Given the description of an element on the screen output the (x, y) to click on. 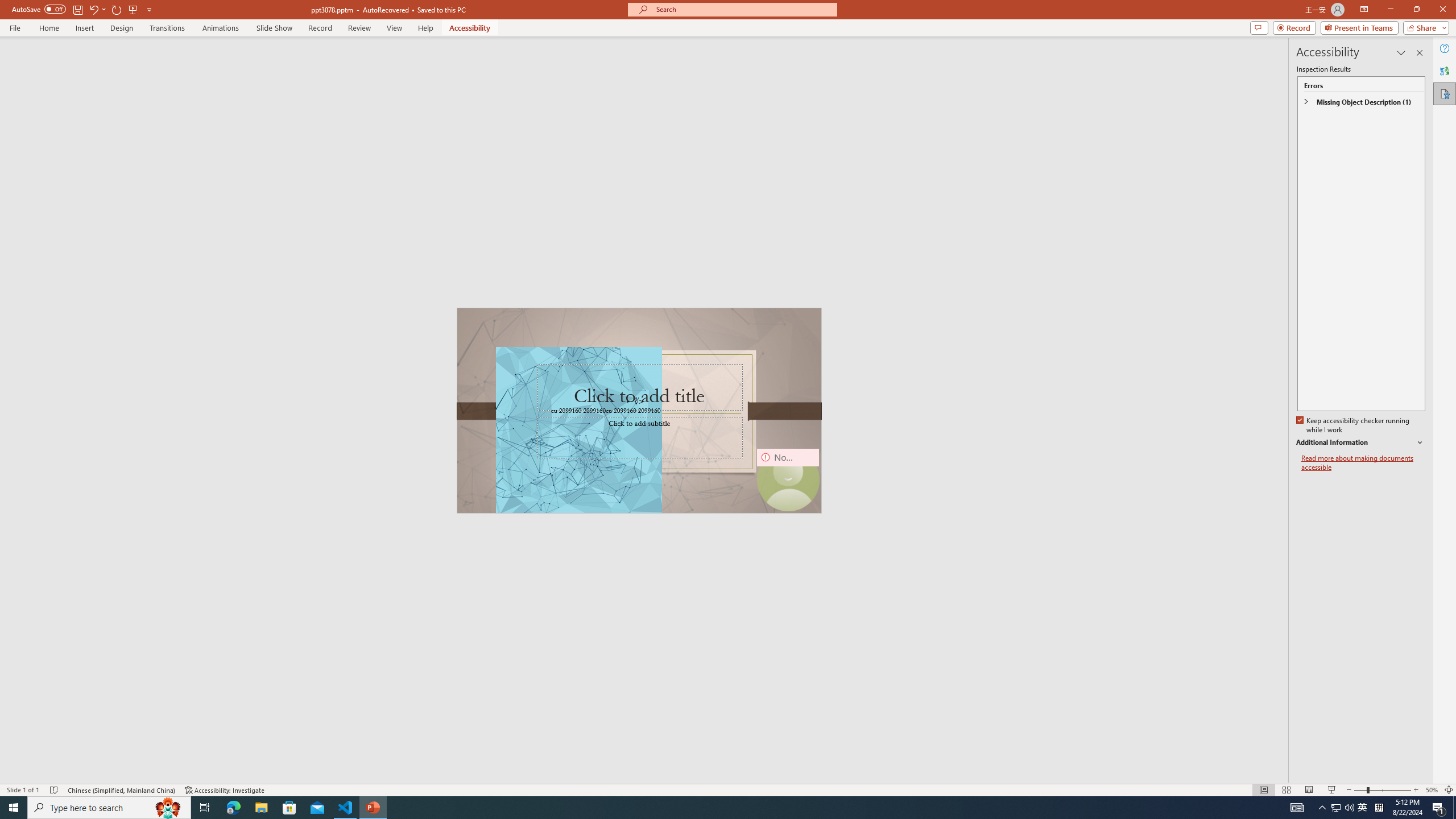
Comments (1259, 27)
Zoom Out (1360, 790)
Title TextBox (639, 386)
Share (1423, 27)
Review (359, 28)
Zoom to Fit  (1449, 790)
Additional Information (1360, 442)
Ribbon Display Options (1364, 9)
Zoom In (1415, 790)
Minimize (1390, 9)
Customize Quick Access Toolbar (149, 9)
Read more about making documents accessible (1363, 462)
